Given the description of an element on the screen output the (x, y) to click on. 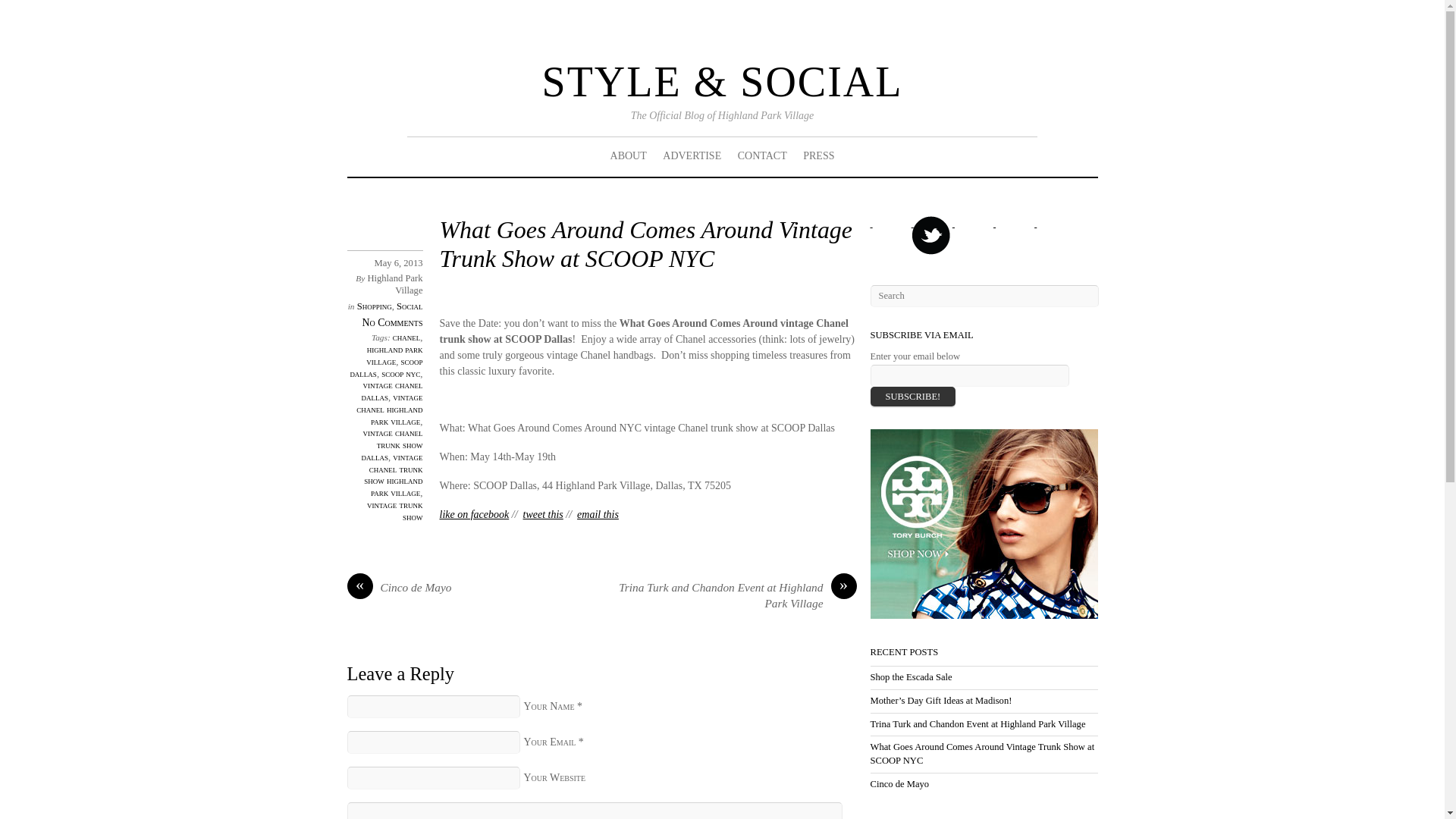
chanel (406, 337)
scoop dallas (385, 367)
ABOUT (628, 155)
CONTACT (761, 155)
vintage chanel trunk show dallas (391, 444)
email this (597, 514)
Cinco de Mayo (900, 783)
ADVERTISE (692, 155)
No Comments (392, 322)
Shop the Escada Sale (911, 676)
tweet this (542, 514)
